Given the description of an element on the screen output the (x, y) to click on. 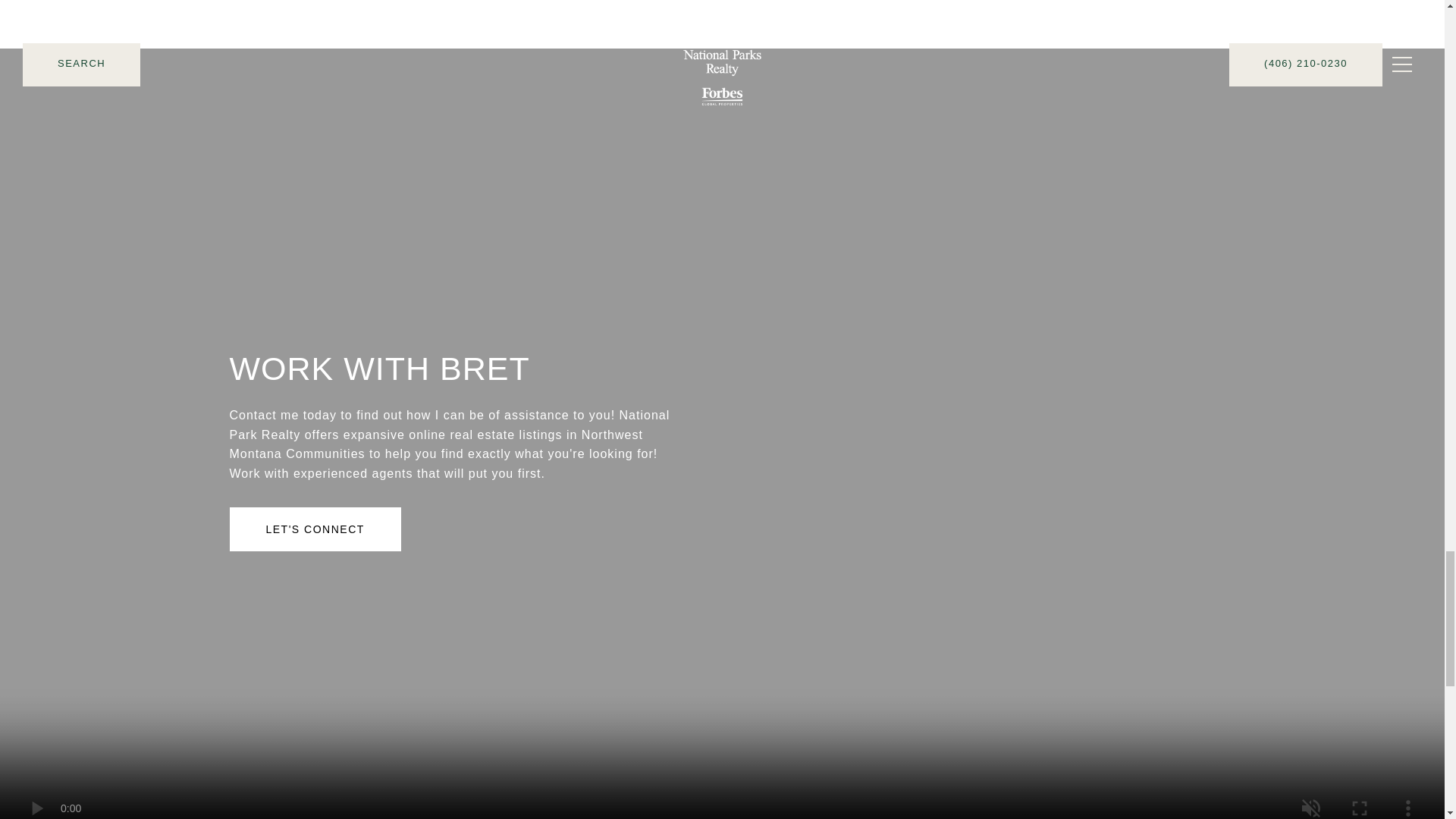
LET'S CONNECT (314, 528)
